Given the description of an element on the screen output the (x, y) to click on. 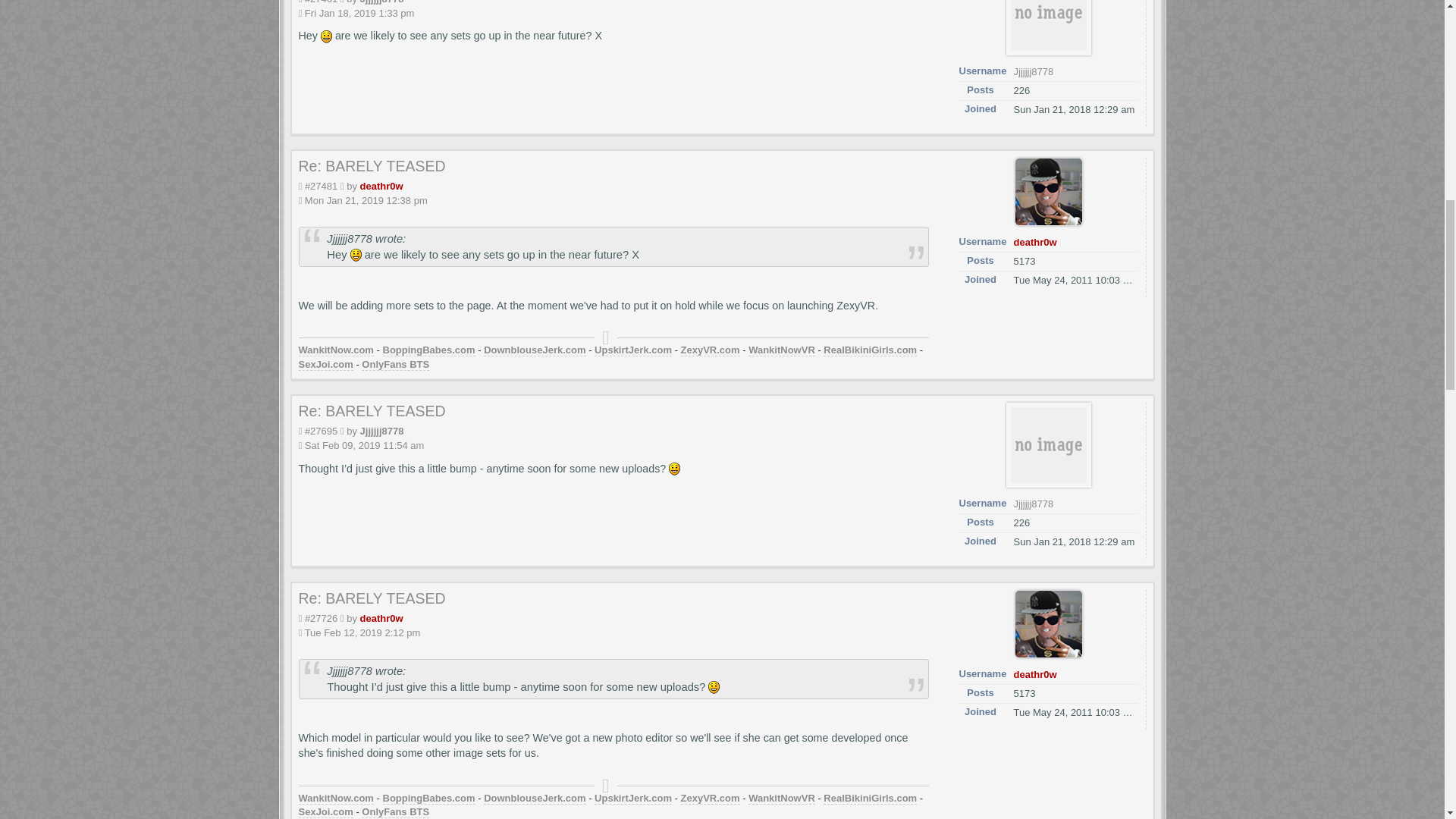
WankitNow.com (336, 349)
Jjjjjjj8778 (1032, 71)
WankitNowVR (781, 349)
Re: BARELY TEASED (371, 166)
UpskirtJerk.com (632, 349)
ZexyVR.com (710, 349)
DownblouseJerk.com (534, 349)
BoppingBabes.com (427, 349)
RealBikiniGirls.com (870, 349)
deathr0w (381, 185)
Jjjjjjj8778 (381, 2)
